Given the description of an element on the screen output the (x, y) to click on. 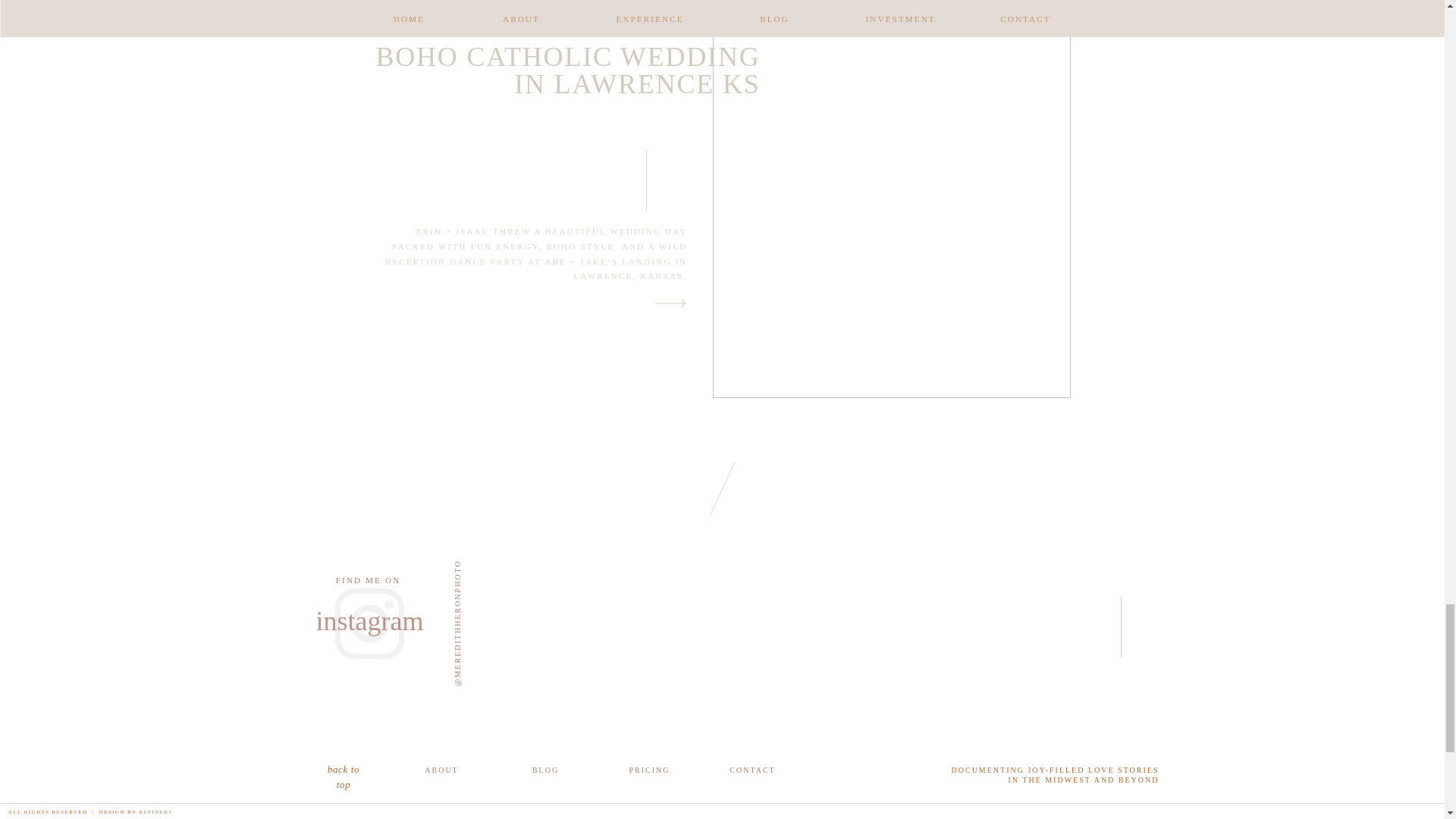
Boho Catholic Wedding in Lawrence KS (670, 303)
